Given the description of an element on the screen output the (x, y) to click on. 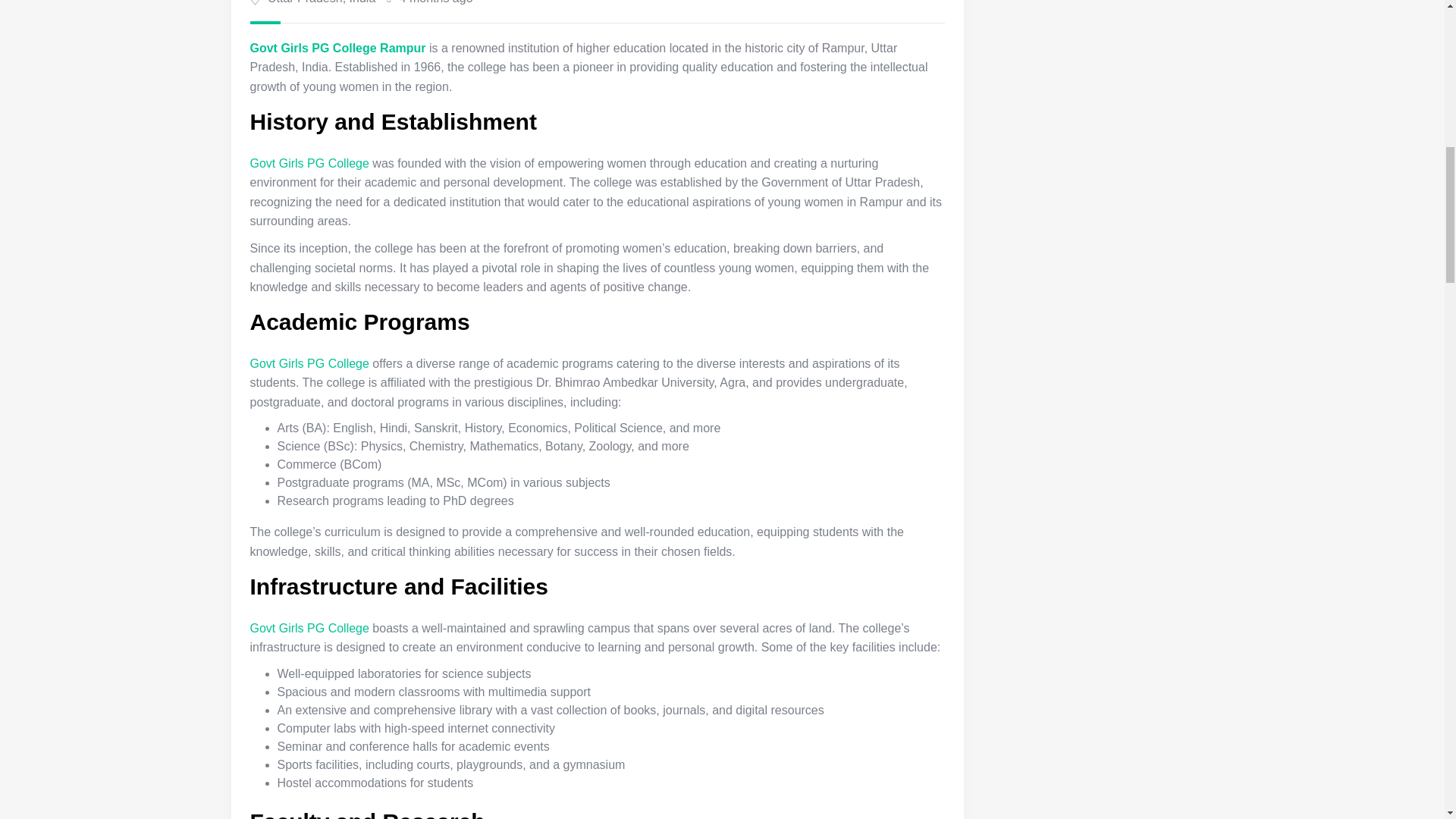
India (362, 2)
Govt Girls PG College Rampur (338, 47)
Uttar Pradesh (304, 2)
Govt Girls PG College (309, 363)
Govt Girls PG College (309, 163)
Govt Girls PG College (309, 627)
